Given the description of an element on the screen output the (x, y) to click on. 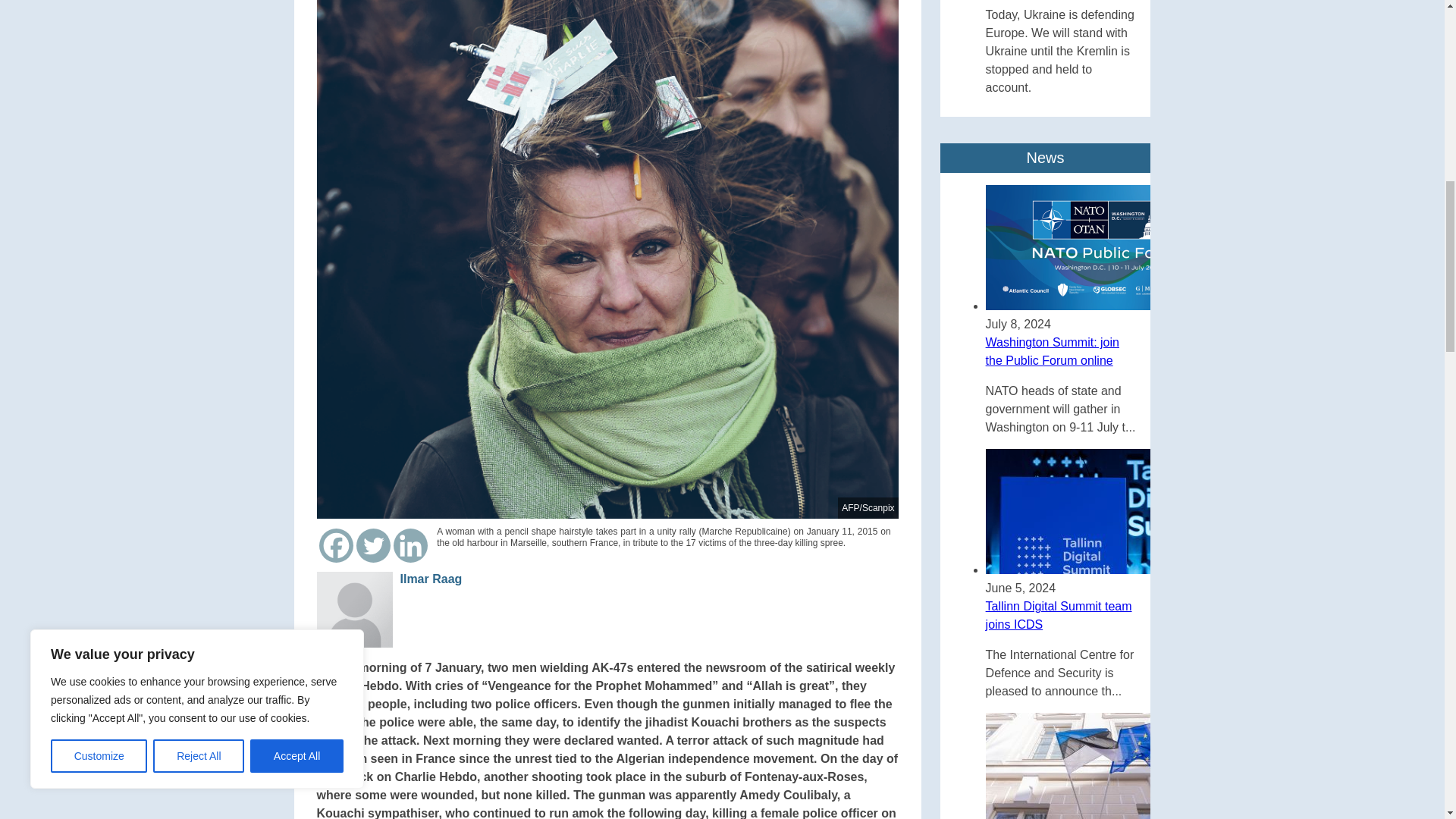
Facebook (335, 545)
Linkedin (410, 545)
Twitter (373, 545)
